Given the description of an element on the screen output the (x, y) to click on. 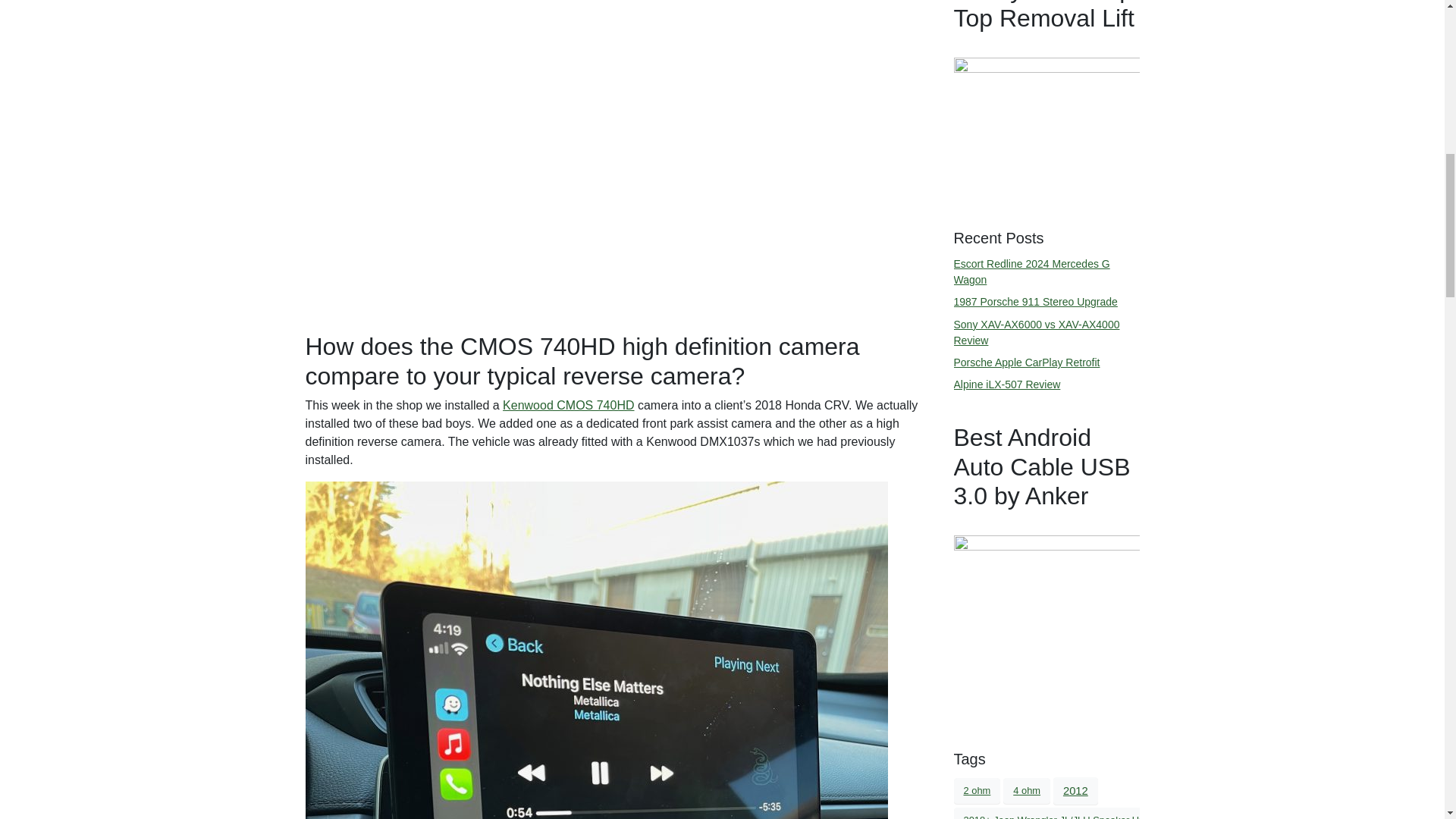
Totally Rad Jeep Top Removal Lift (1046, 128)
Kenwood CMOS 740HD (567, 404)
Kenwood CMOS 740HD Comparison (613, 10)
